Given the description of an element on the screen output the (x, y) to click on. 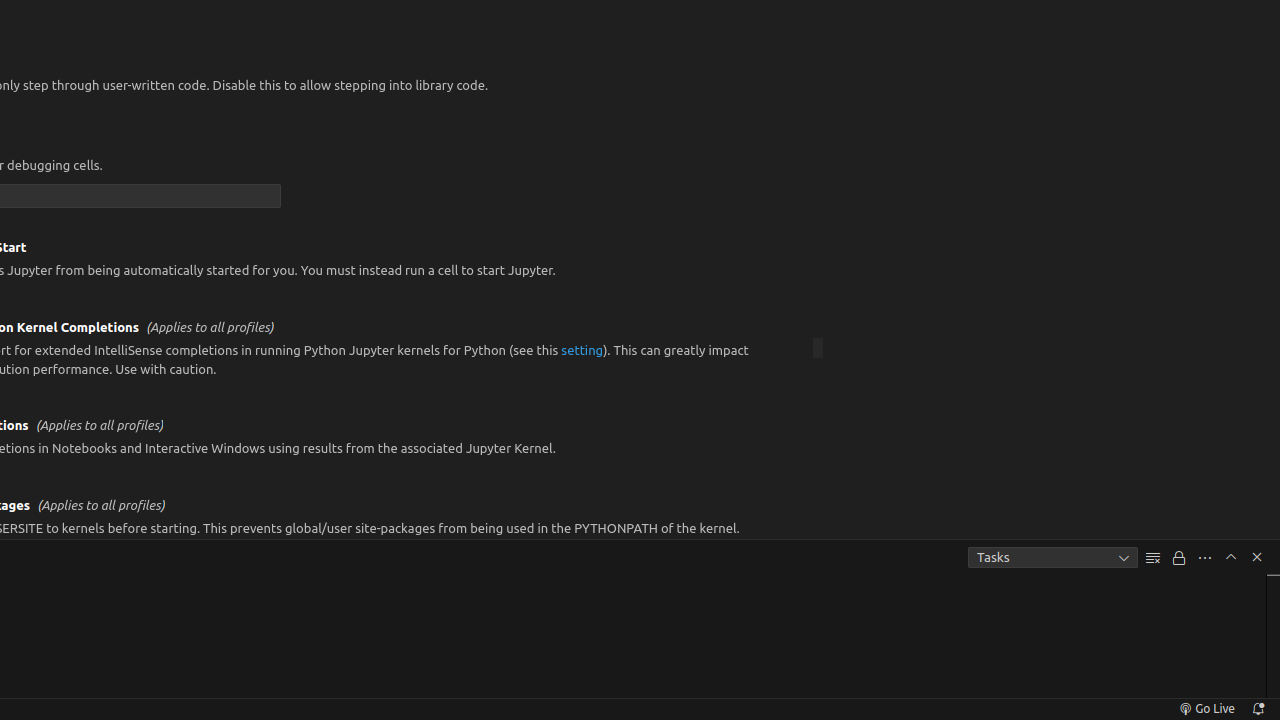
Clear Output Element type: push-button (1153, 557)
Hide Panel Element type: push-button (1257, 557)
Views and More Actions... Element type: push-button (1205, 557)
Notifications Element type: push-button (1258, 709)
Turn Auto Scrolling Off Element type: check-box (1179, 557)
